Given the description of an element on the screen output the (x, y) to click on. 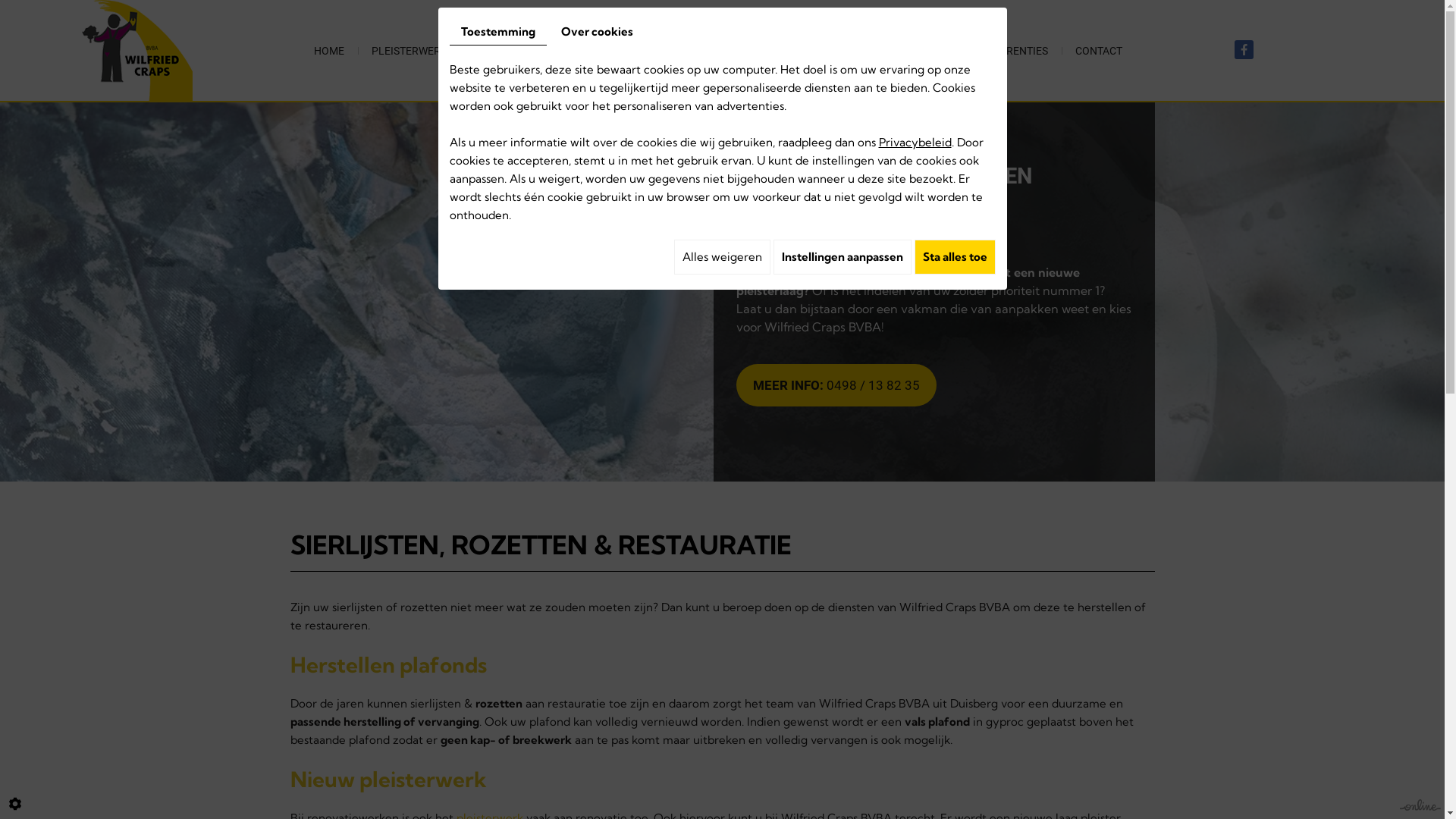
Toestemming Element type: text (497, 31)
SIERLIJSTEN & RESTAURATIE Element type: text (769, 49)
GYPROCWERKEN Element type: text (630, 49)
Facebook Element type: hover (1243, 49)
REFERENTIES Element type: text (1014, 49)
PLEISTERWERKEN Element type: text (416, 49)
Cookie-instelling bewerken Element type: text (14, 803)
Over cookies Element type: text (596, 31)
Privacybeleid Element type: text (914, 141)
Alles weigeren Element type: text (721, 256)
CONTACT Element type: text (1098, 49)
Sta alles toe Element type: text (954, 256)
HOME Element type: text (328, 49)
BVBA Wilfried Craps - Stukadoor Element type: hover (136, 48)
CEMENTERING Element type: text (524, 49)
Instellingen aanpassen Element type: text (842, 256)
ISOLATIEWERKEN Element type: text (910, 49)
MEER INFO: 0498 / 13 82 35 Element type: text (836, 385)
